Given the description of an element on the screen output the (x, y) to click on. 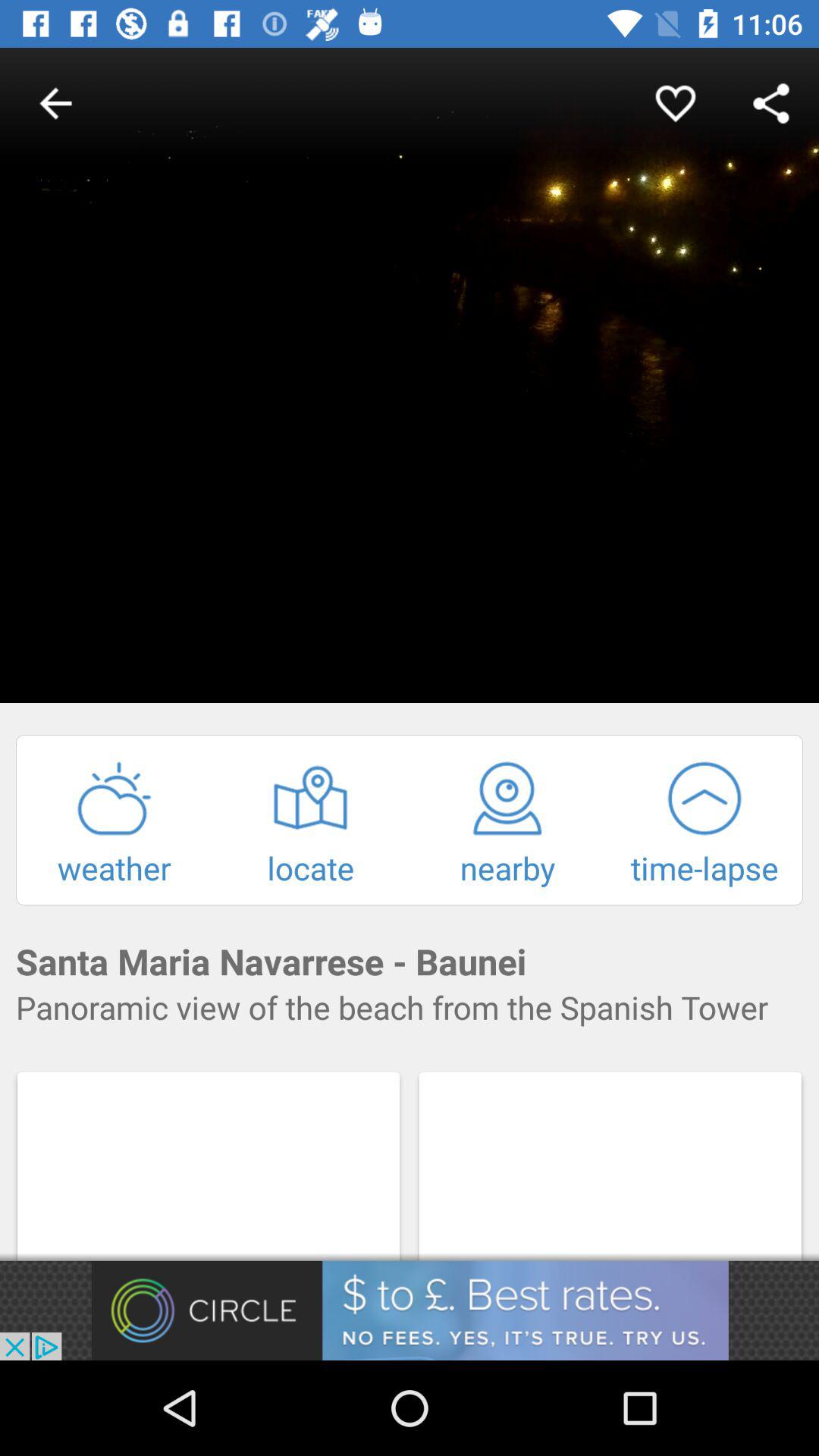
go to advertisement website (409, 1310)
